Given the description of an element on the screen output the (x, y) to click on. 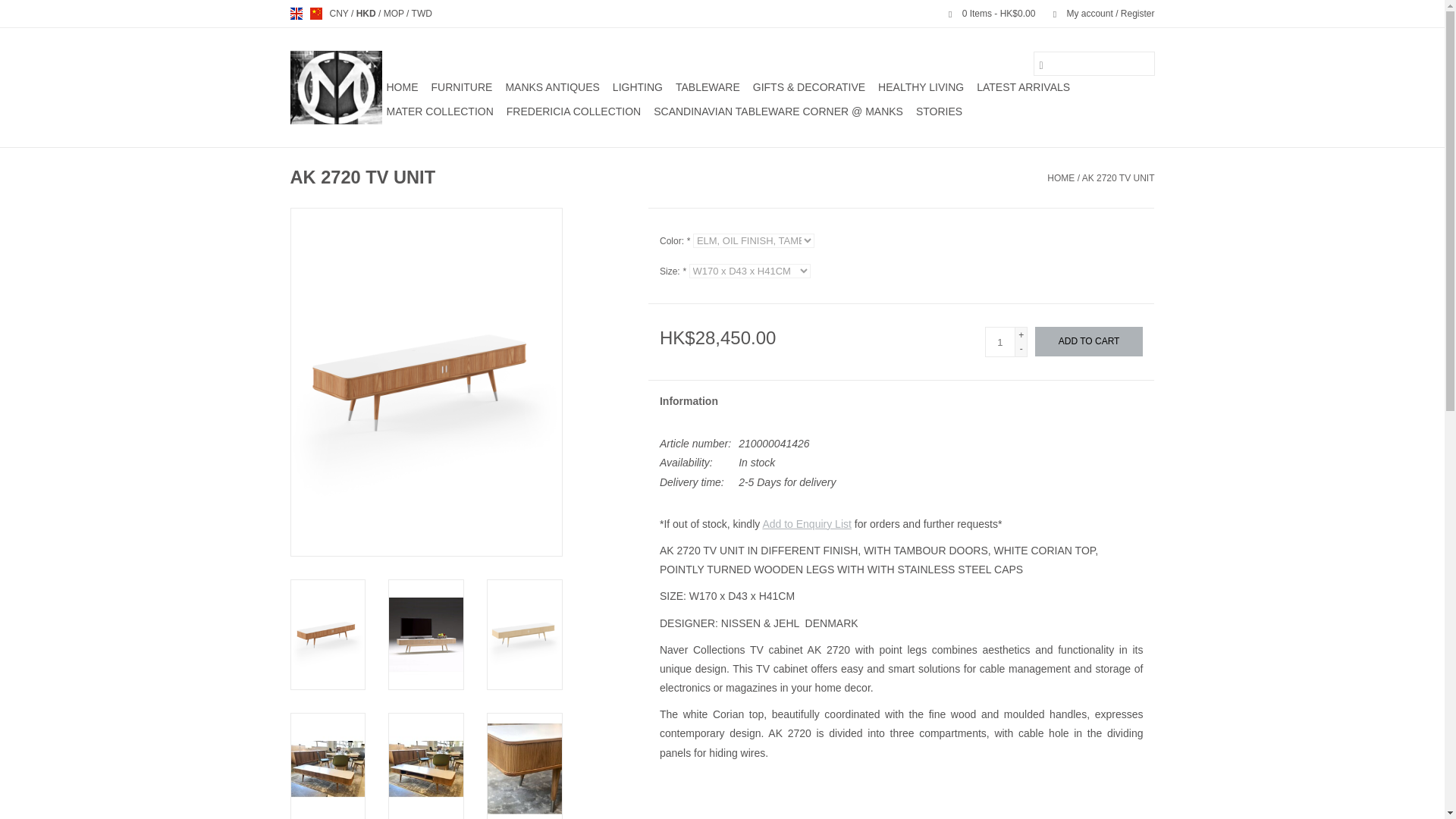
CNY (339, 13)
hkd (367, 13)
cny (339, 13)
MANKS ANTIQUES (552, 87)
mop (395, 13)
Cart (985, 13)
TWD (422, 13)
My account (1096, 13)
FURNITURE (461, 87)
twd (422, 13)
FURNITURE (461, 87)
en (295, 13)
us (314, 13)
MOP (395, 13)
LIGHTING (637, 87)
